Given the description of an element on the screen output the (x, y) to click on. 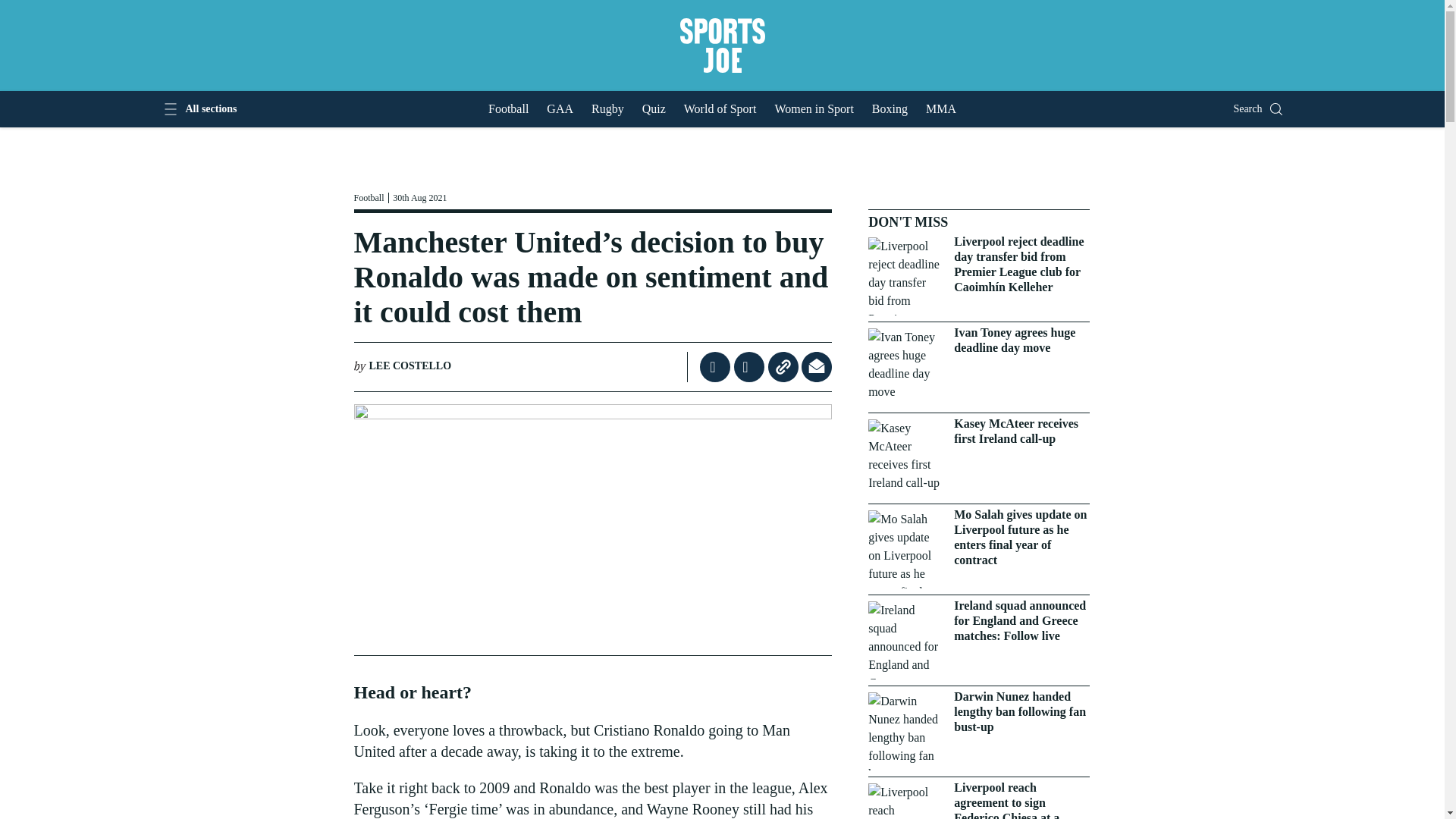
Welcome to JOE (721, 45)
Rugby (607, 108)
Boxing (889, 108)
Share this on Twitter (750, 367)
Get in touch by email (816, 367)
Football (507, 108)
MMA (941, 108)
GAA (560, 108)
World of Sport (720, 108)
